Given the description of an element on the screen output the (x, y) to click on. 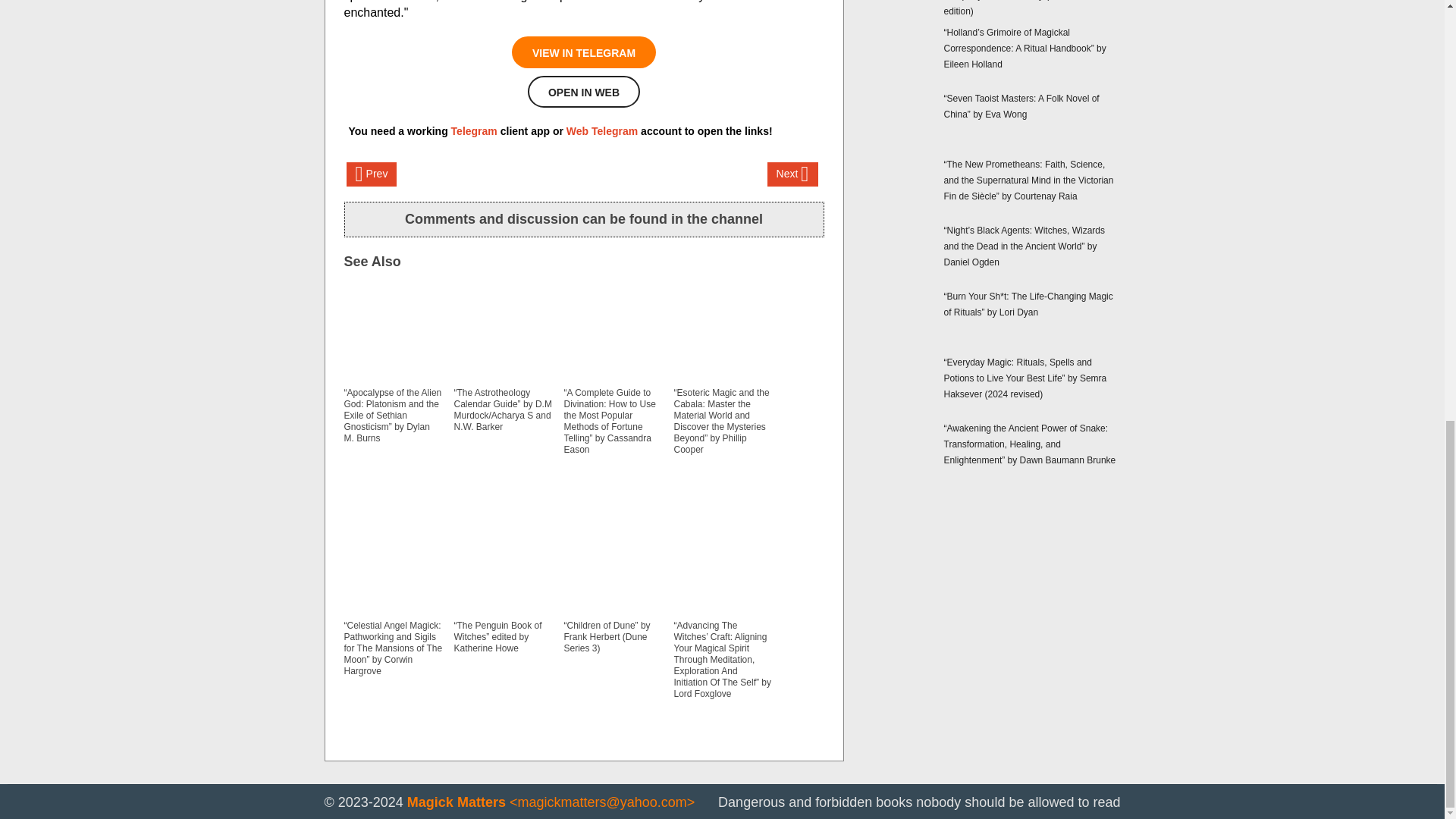
Prev (371, 174)
Next (792, 174)
Telegram (474, 131)
VIEW IN TELEGRAM (584, 51)
OPEN IN WEB (583, 91)
Web Telegram (601, 131)
